Given the description of an element on the screen output the (x, y) to click on. 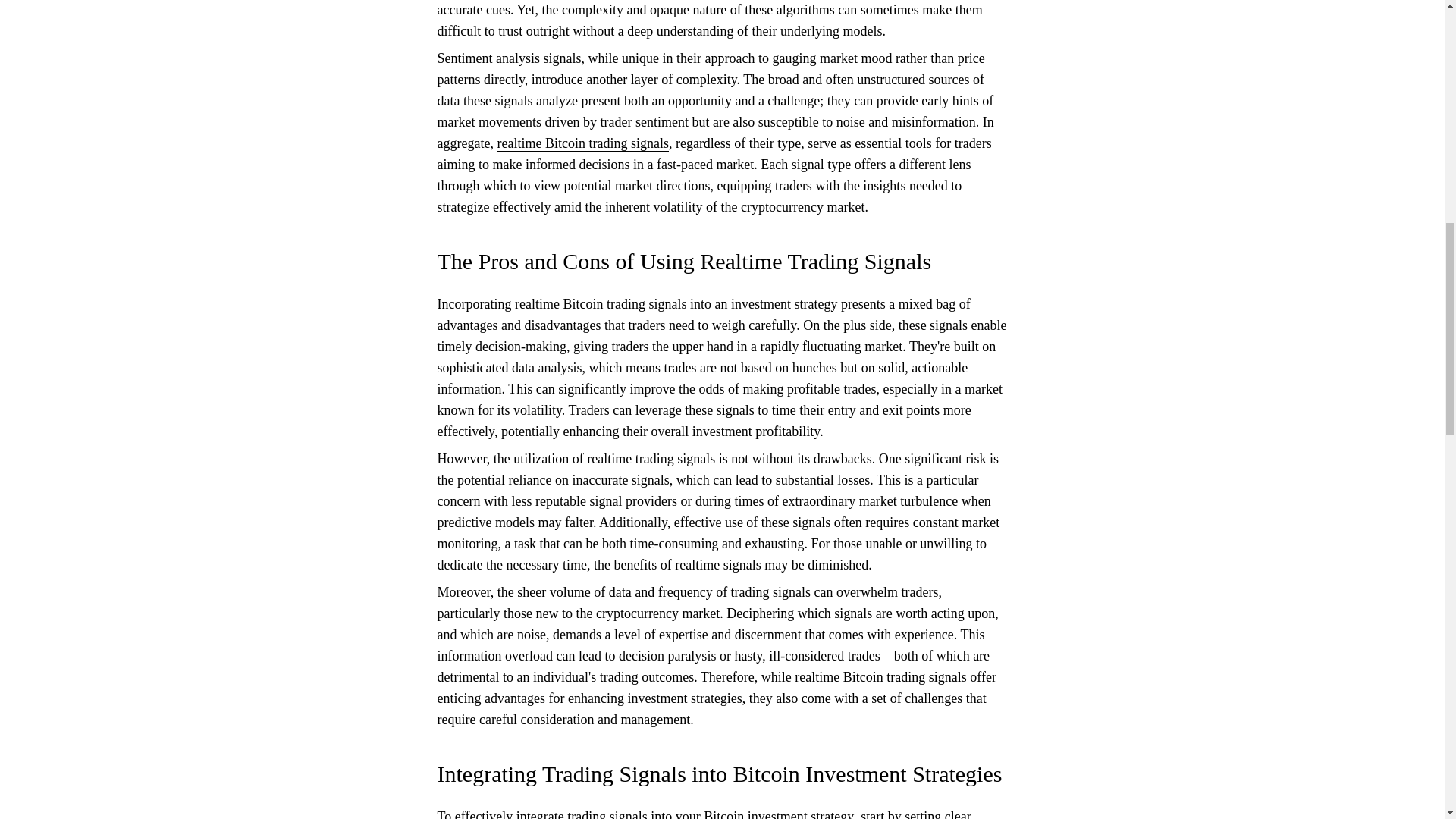
realtime Bitcoin trading signals (600, 304)
realtime Bitcoin trading signals (582, 143)
trading signals into your Bitcoin investment strategy (710, 814)
